Given the description of an element on the screen output the (x, y) to click on. 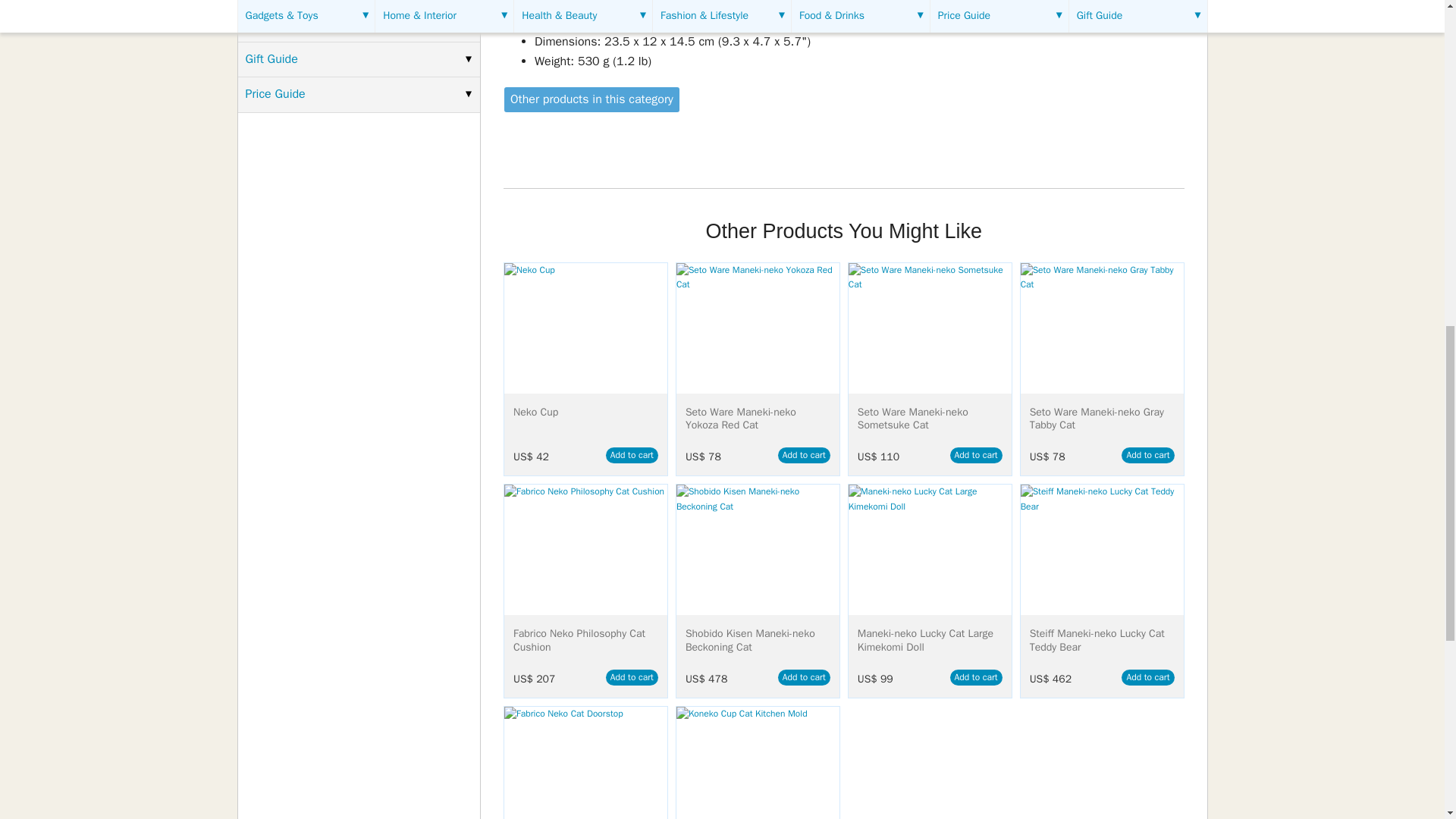
 Shobido Kisen Maneki-neko Beckoning Cat  (758, 549)
 Seto Ware Maneki-neko Sometsuke Cat  (929, 327)
 Seto Ware Maneki-neko Yokoza Red Cat  (758, 327)
 Fabrico Neko Cat Doorstop  (584, 762)
 Steiff Maneki-neko Lucky Cat Teddy Bear  (1101, 549)
 Maneki-neko Lucky Cat Large Kimekomi Doll  (929, 549)
 Neko Cup  (584, 327)
 Seto Ware Maneki-neko Gray Tabby Cat  (1101, 327)
 Koneko Cup Cat Kitchen Mold  (758, 762)
 Fabrico Neko Philosophy Cat Cushion  (584, 549)
